Given the description of an element on the screen output the (x, y) to click on. 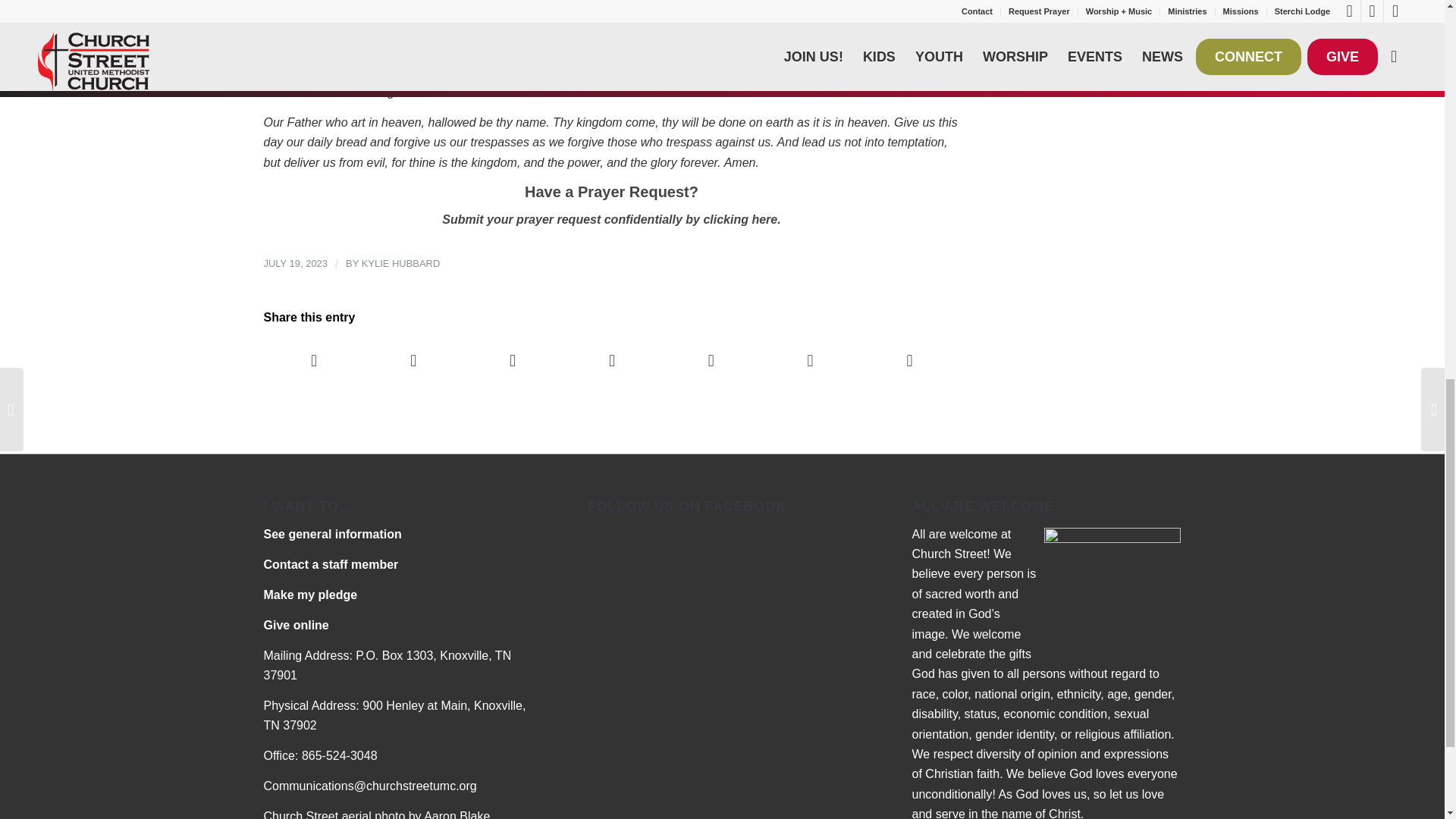
Posts by Kylie Hubbard (401, 263)
